Given the description of an element on the screen output the (x, y) to click on. 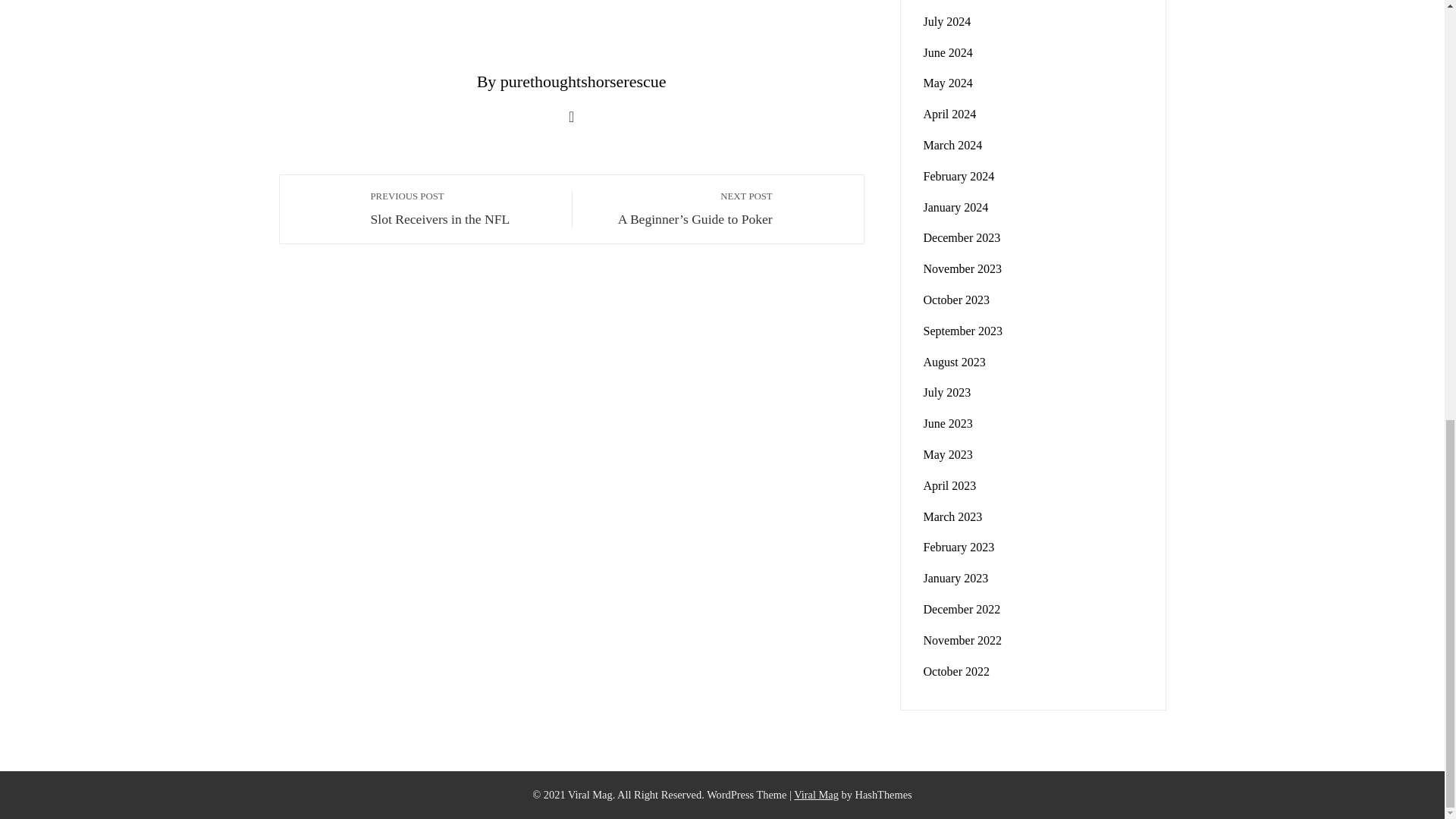
December 2023 (962, 237)
May 2023 (947, 454)
September 2023 (963, 330)
March 2024 (952, 144)
February 2024 (958, 175)
June 2023 (947, 422)
July 2023 (947, 391)
June 2024 (947, 51)
July 2024 (947, 21)
October 2023 (956, 299)
